Given the description of an element on the screen output the (x, y) to click on. 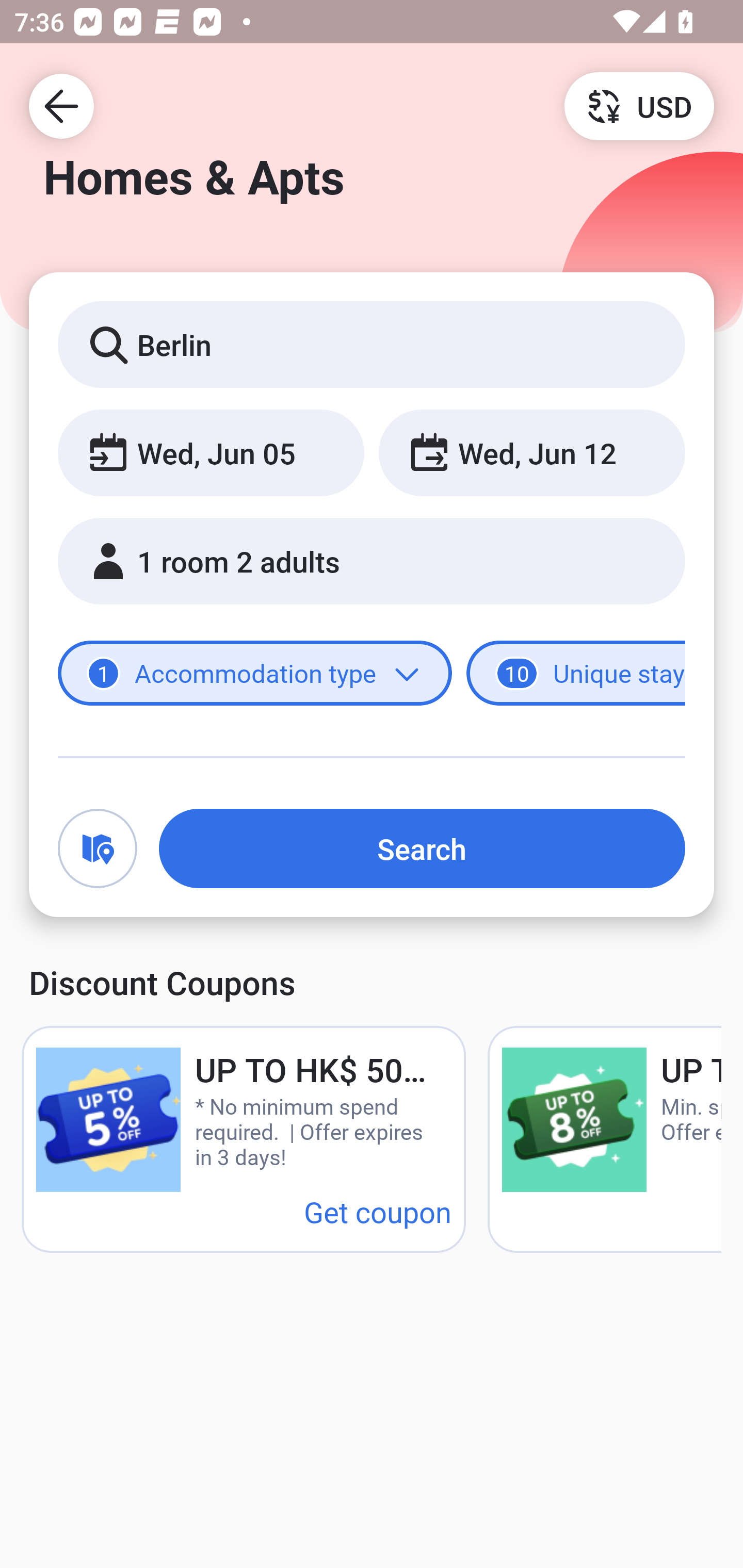
USD (639, 105)
Berlin (371, 344)
Wed, Jun 05 (210, 452)
Wed, Jun 12 (531, 452)
1 room 2 adults (371, 561)
1 Accommodation type (254, 673)
10 Unique stays (575, 673)
Search (422, 848)
Get coupon (377, 1211)
